Given the description of an element on the screen output the (x, y) to click on. 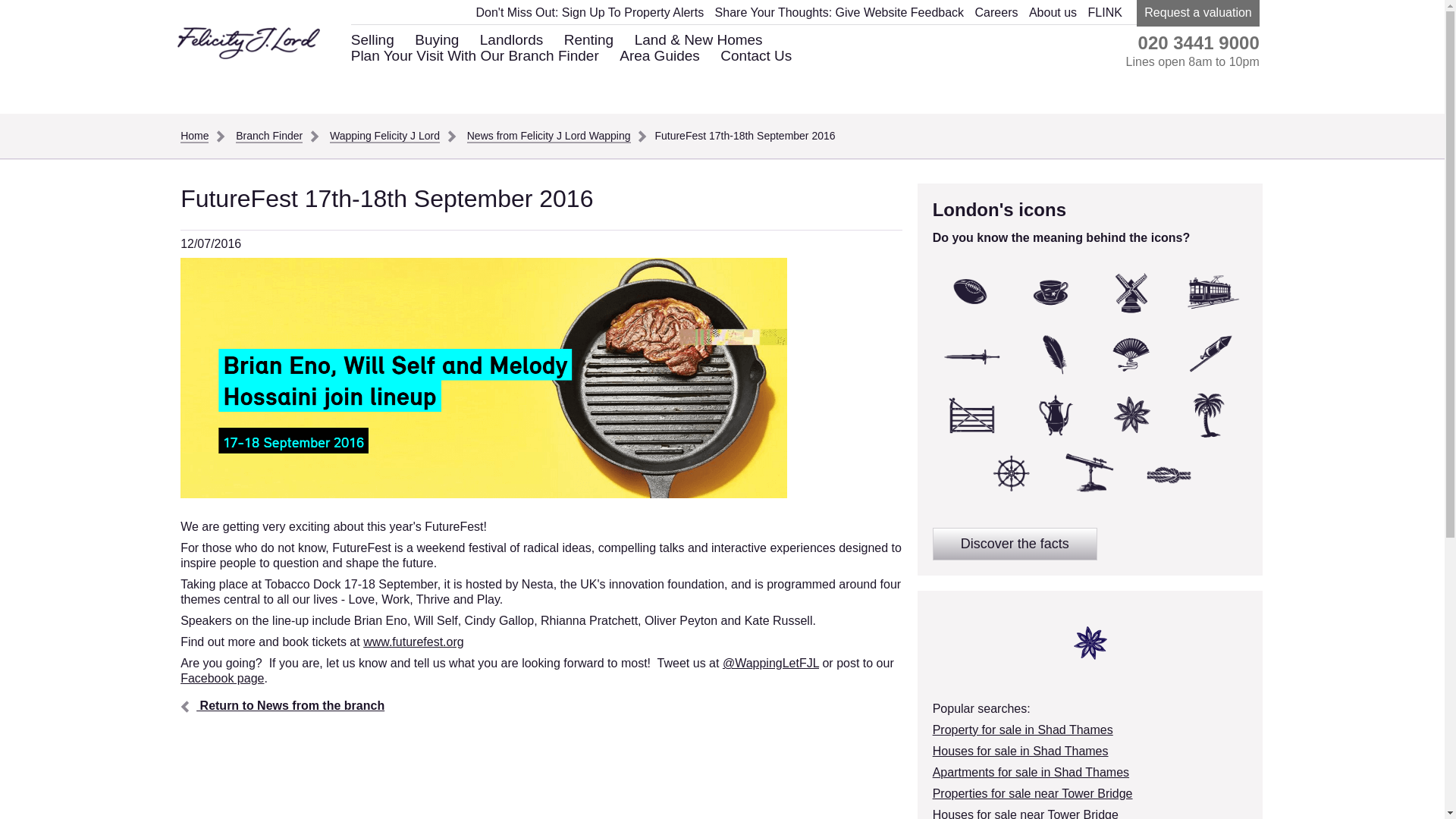
Return to News from the branch (282, 705)
FLINK (1104, 12)
Discover the facts (1015, 543)
Landlords (511, 39)
Selling (372, 39)
Share Your Thoughts: Give Website Feedback (838, 12)
Don't Miss Out: Sign Up To Property Alerts (589, 12)
Contact Us (756, 55)
FJL icons (1090, 643)
About us (1053, 12)
Buying (436, 39)
Request a valuation (1198, 13)
Houses for sale near Tower Bridge (1025, 813)
Careers (996, 12)
Home (195, 135)
